Given the description of an element on the screen output the (x, y) to click on. 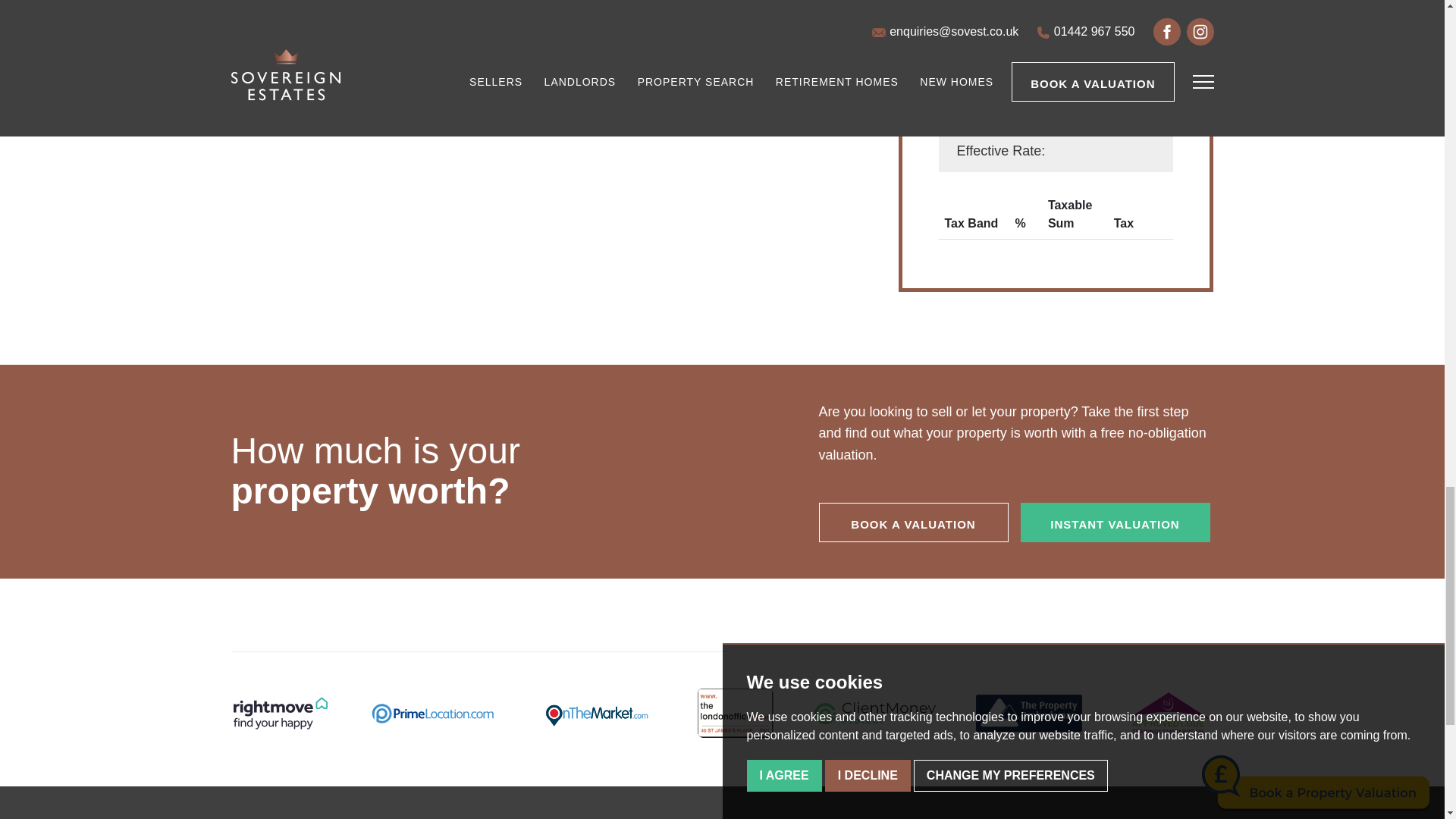
on (946, 16)
